Given the description of an element on the screen output the (x, y) to click on. 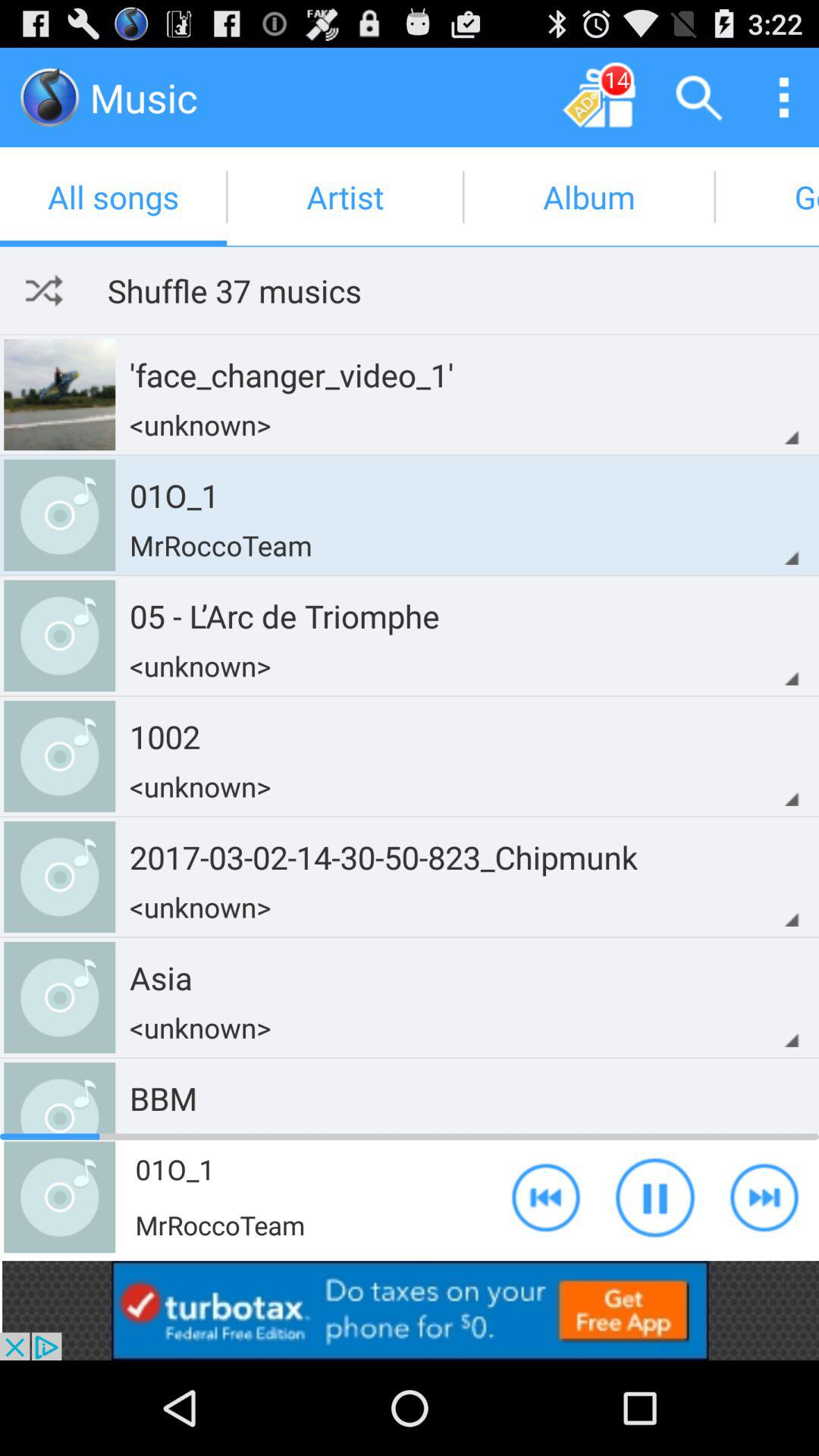
enter into the file (49, 97)
